Given the description of an element on the screen output the (x, y) to click on. 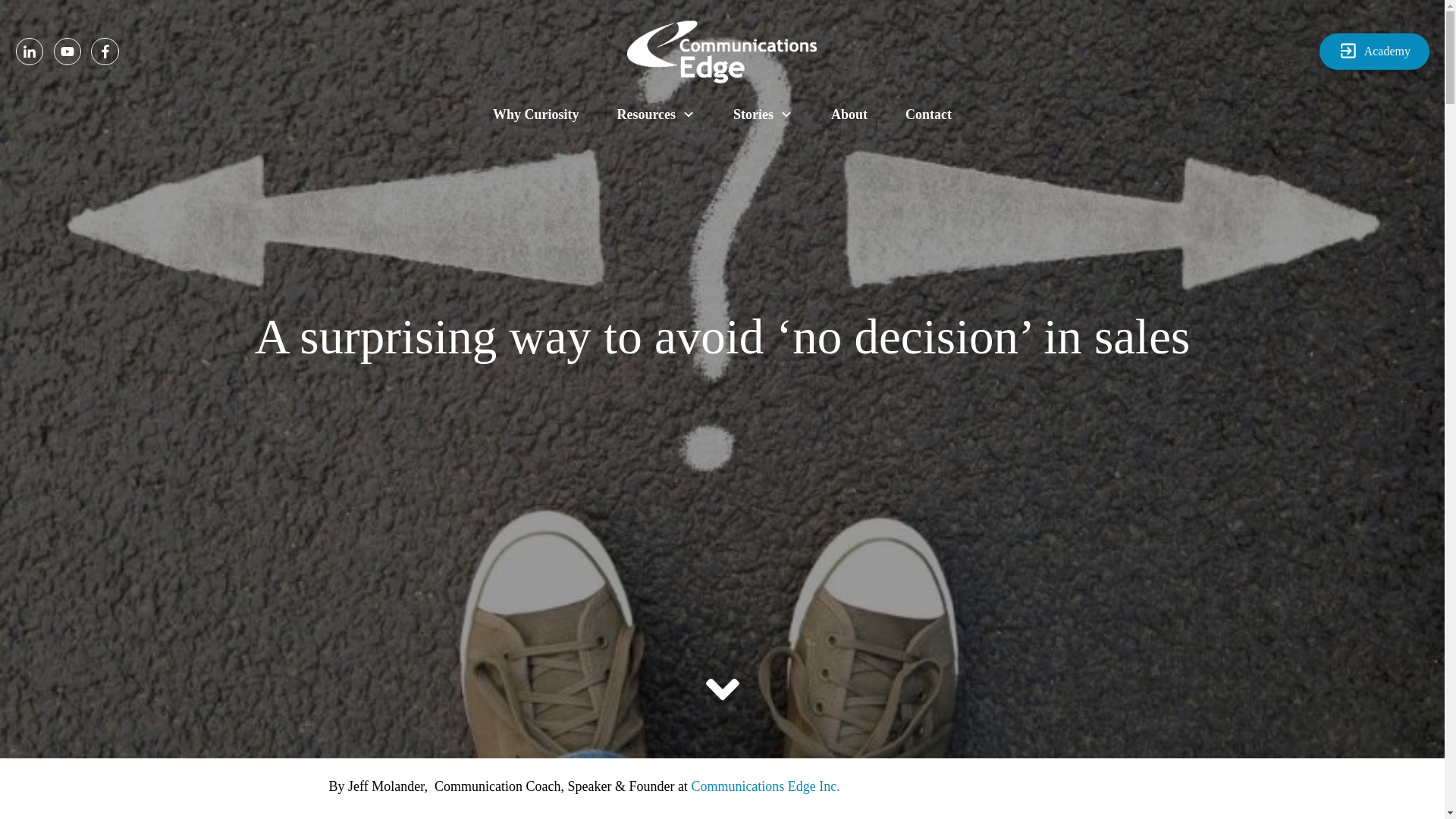
Resources (655, 113)
Stories (763, 113)
Communications Edge Inc. (765, 786)
Why Curiosity (536, 113)
Contact (928, 113)
Academy (1374, 51)
About (849, 113)
